Given the description of an element on the screen output the (x, y) to click on. 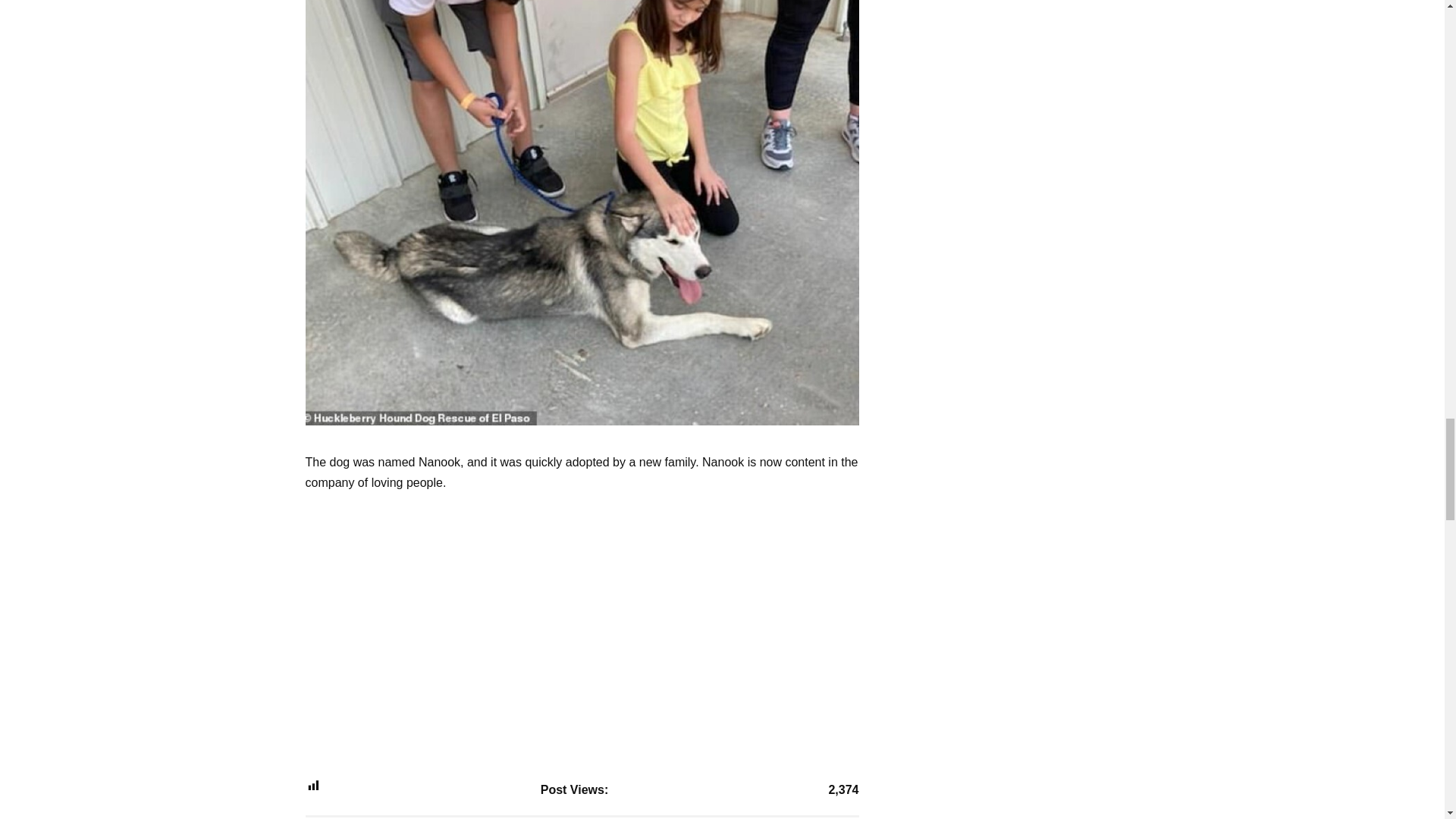
YouTube video player (516, 633)
